Given the description of an element on the screen output the (x, y) to click on. 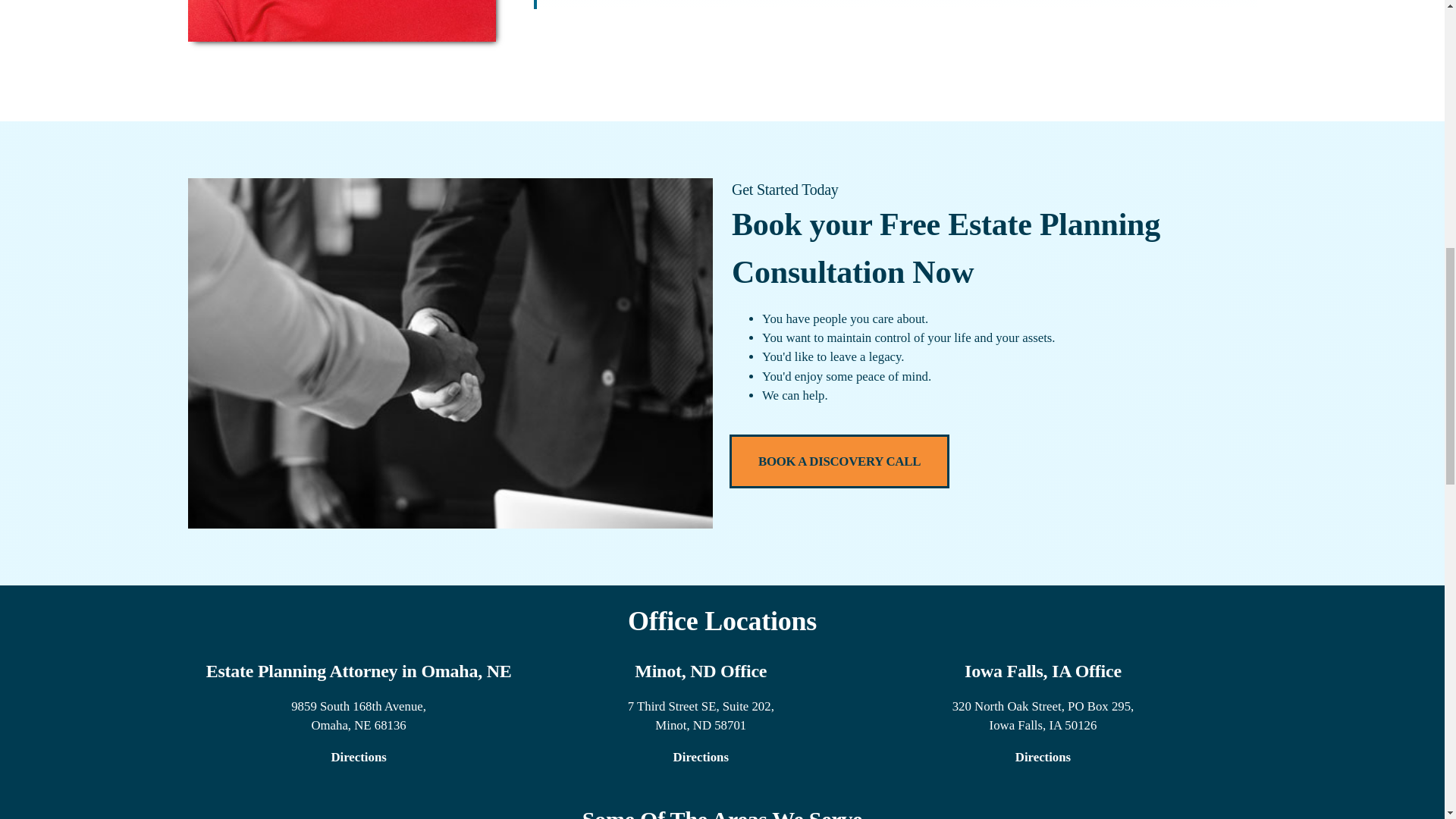
Book A Discovery Call With Legacy Design Strategies (839, 461)
Julie Larsen (341, 21)
